Given the description of an element on the screen output the (x, y) to click on. 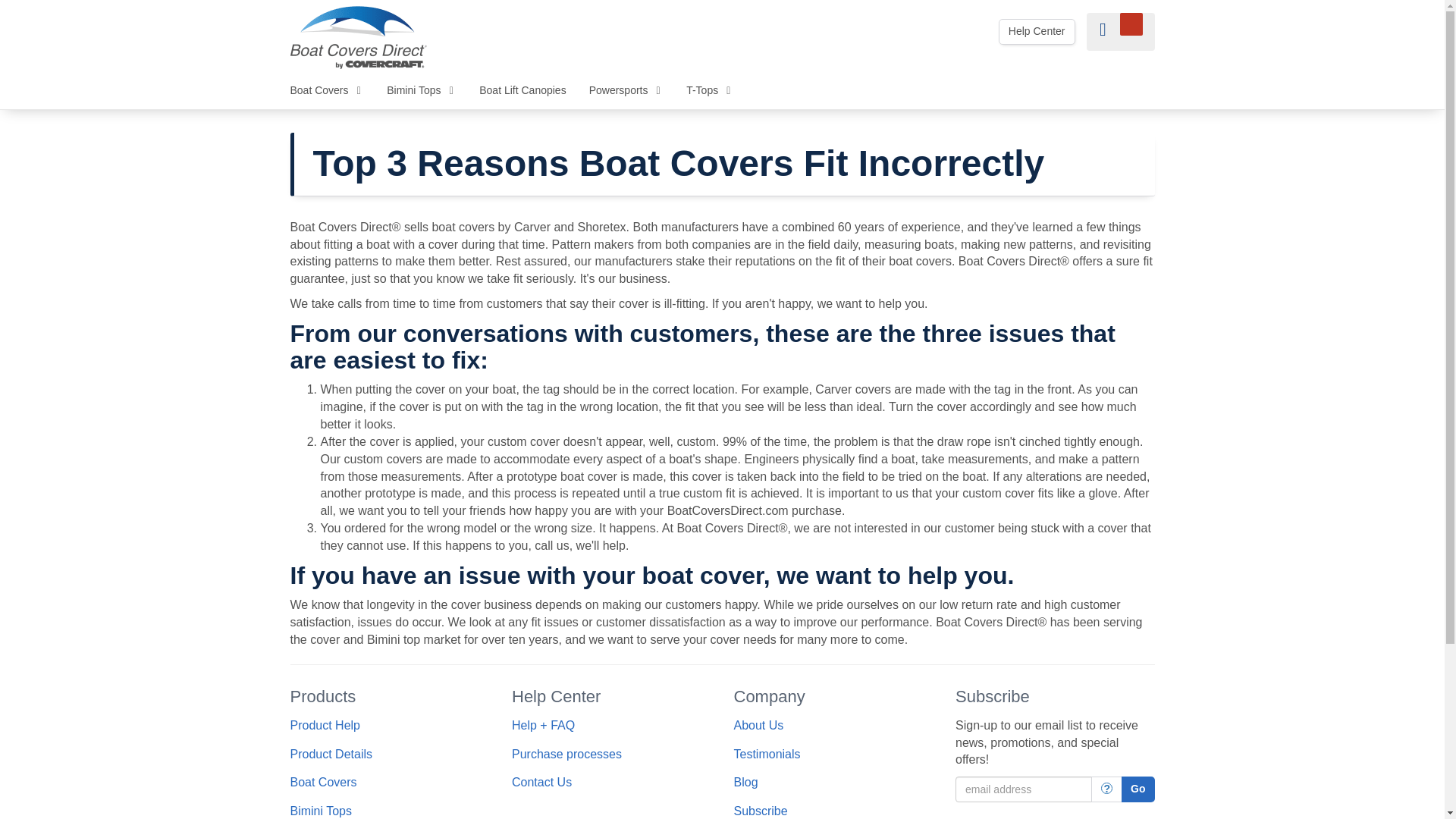
More Info (1106, 789)
Powersports (626, 89)
Boat Covers (327, 89)
Bimini Tops (421, 89)
Boat Lift Canopies (521, 89)
View Cart (1120, 31)
